Given the description of an element on the screen output the (x, y) to click on. 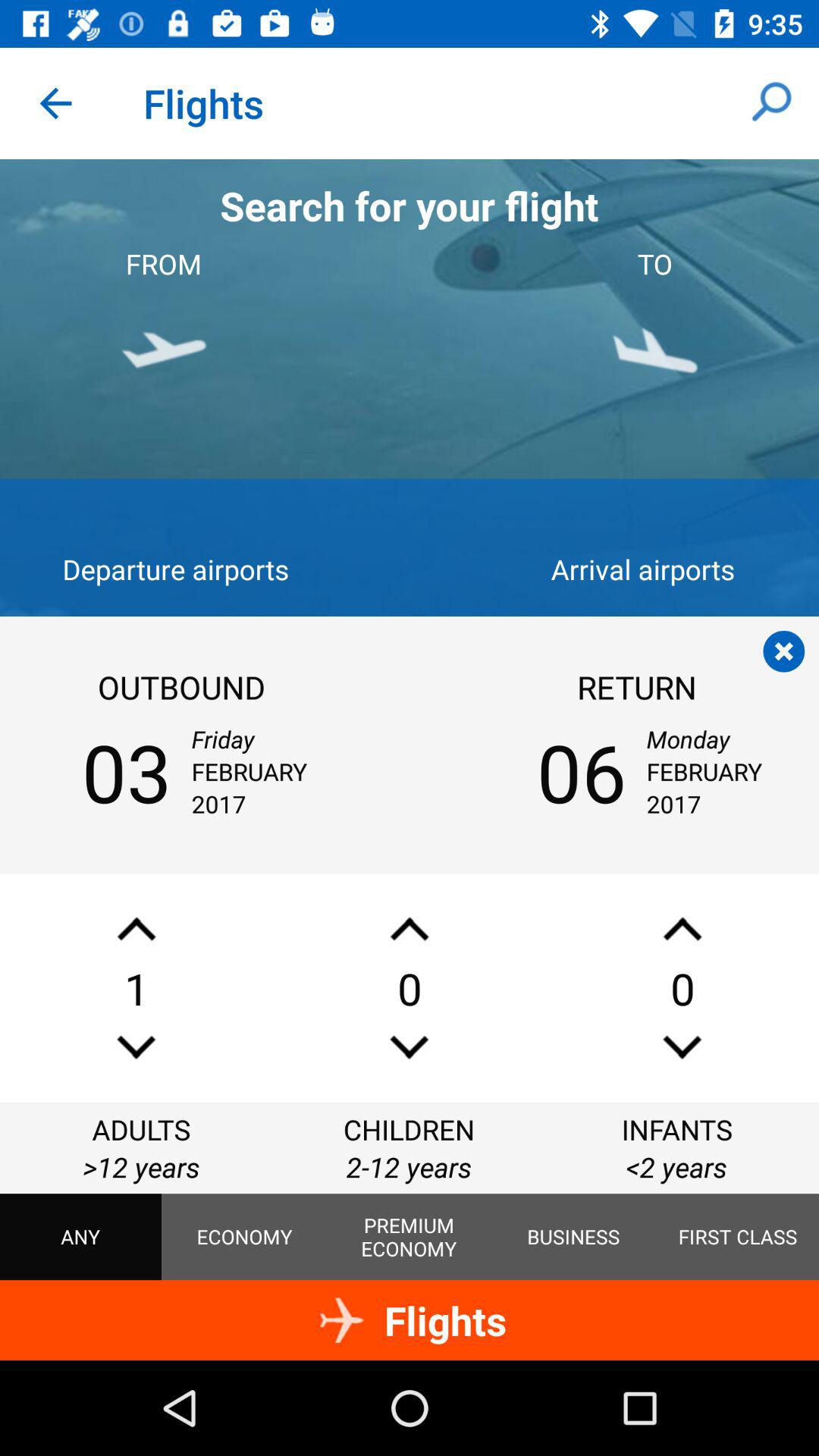
press icon next to premium economy (573, 1236)
